Given the description of an element on the screen output the (x, y) to click on. 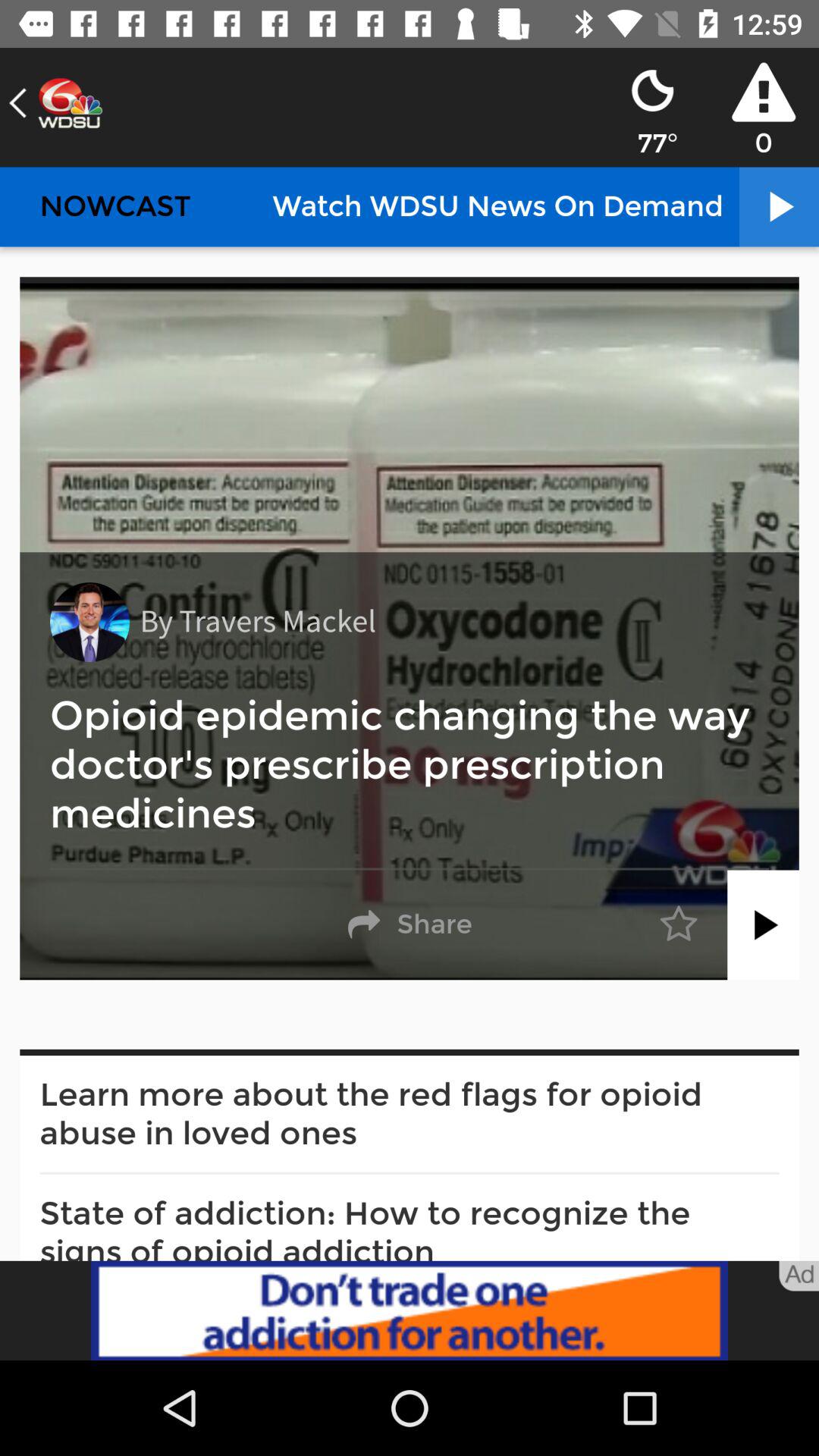
open (763, 924)
